Given the description of an element on the screen output the (x, y) to click on. 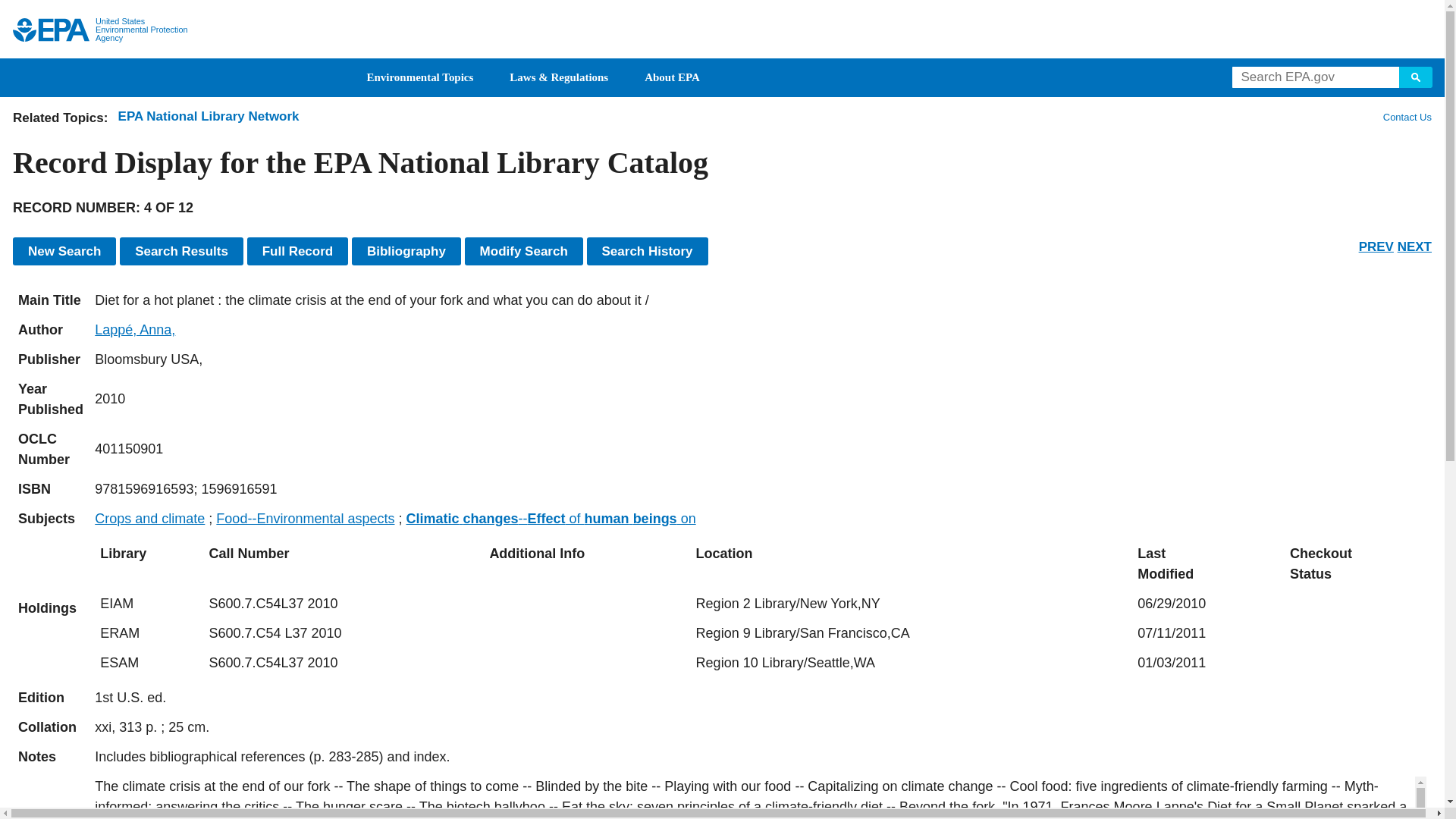
Create a New Search (64, 251)
Modify Search (523, 251)
Environmental Topics (420, 77)
US EPA (50, 29)
EPA National Library Network (208, 115)
Show results in bibliographic format (406, 251)
About EPA (671, 77)
PREV (1375, 246)
Bibliography (406, 251)
Learn about Environmental Topics that EPA covers. (420, 77)
full length text available by clicking full record (760, 797)
EPA National Library Network (208, 115)
full length text available by clicking full record (760, 756)
Display Full Record (298, 251)
New Search (64, 251)
